Given the description of an element on the screen output the (x, y) to click on. 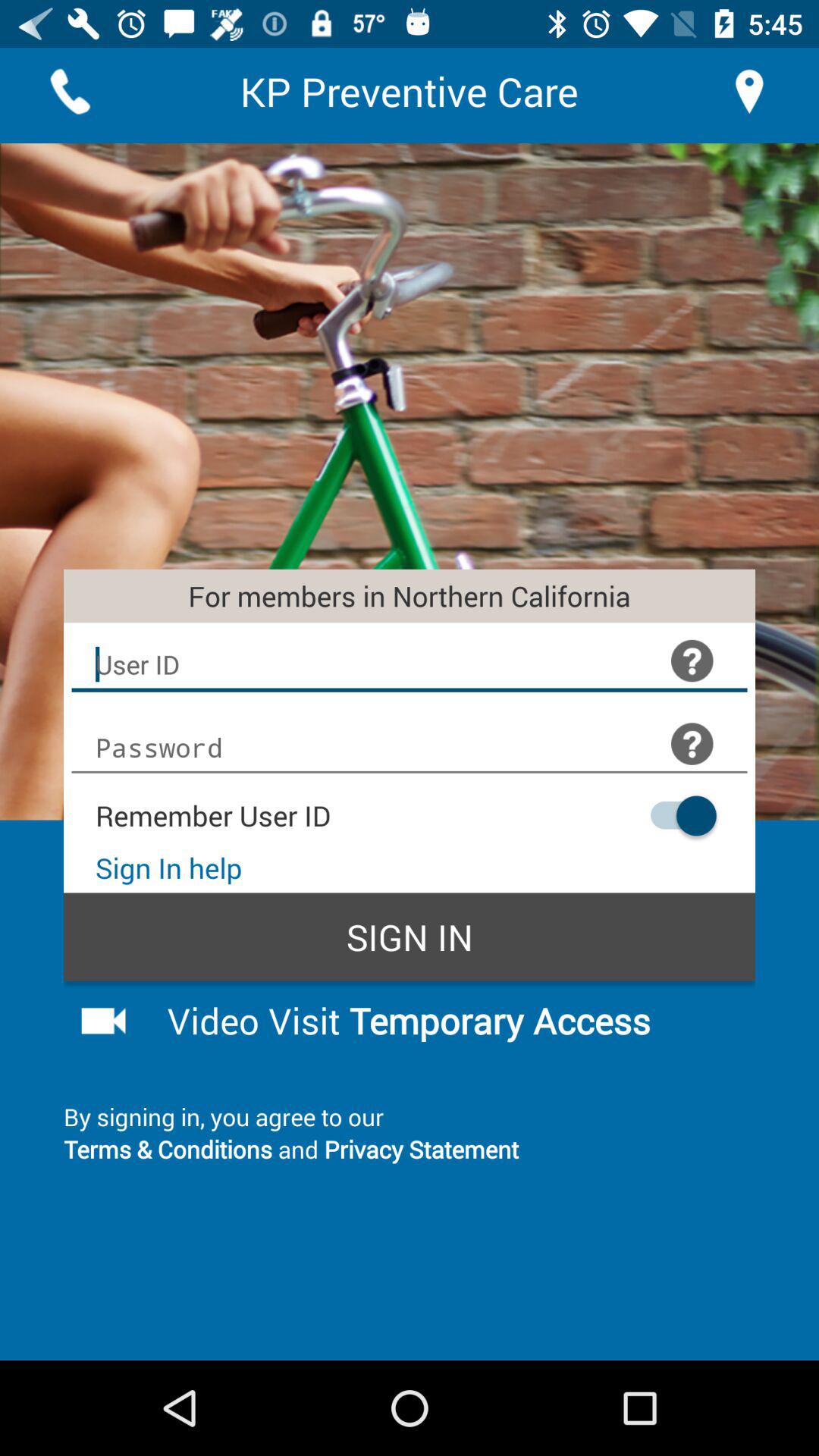
flip until the terms conditions and icon (409, 1148)
